Given the description of an element on the screen output the (x, y) to click on. 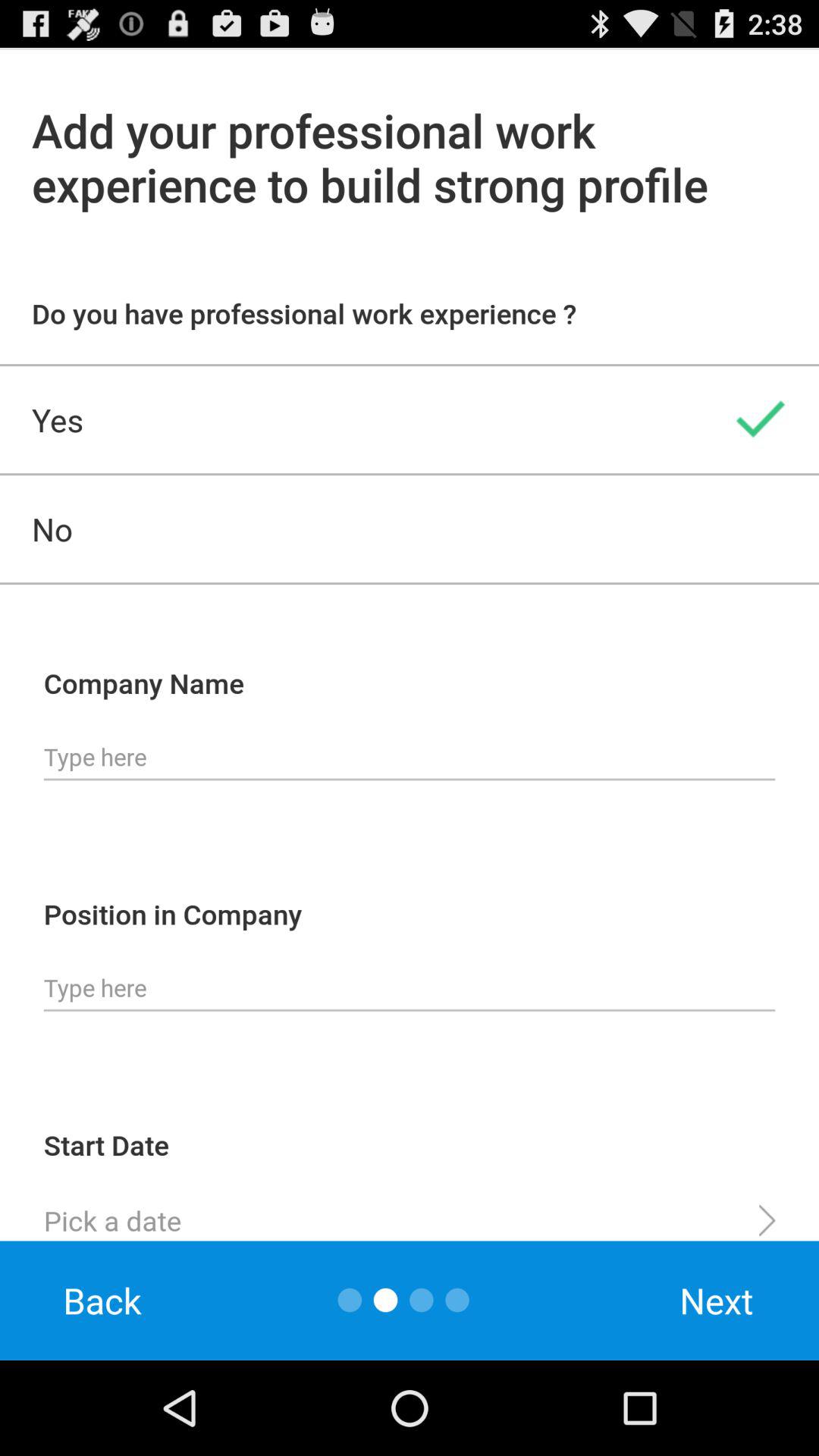
click on the text field below company name (409, 757)
select the next button at bottom right corner of page (716, 1300)
